Given the description of an element on the screen output the (x, y) to click on. 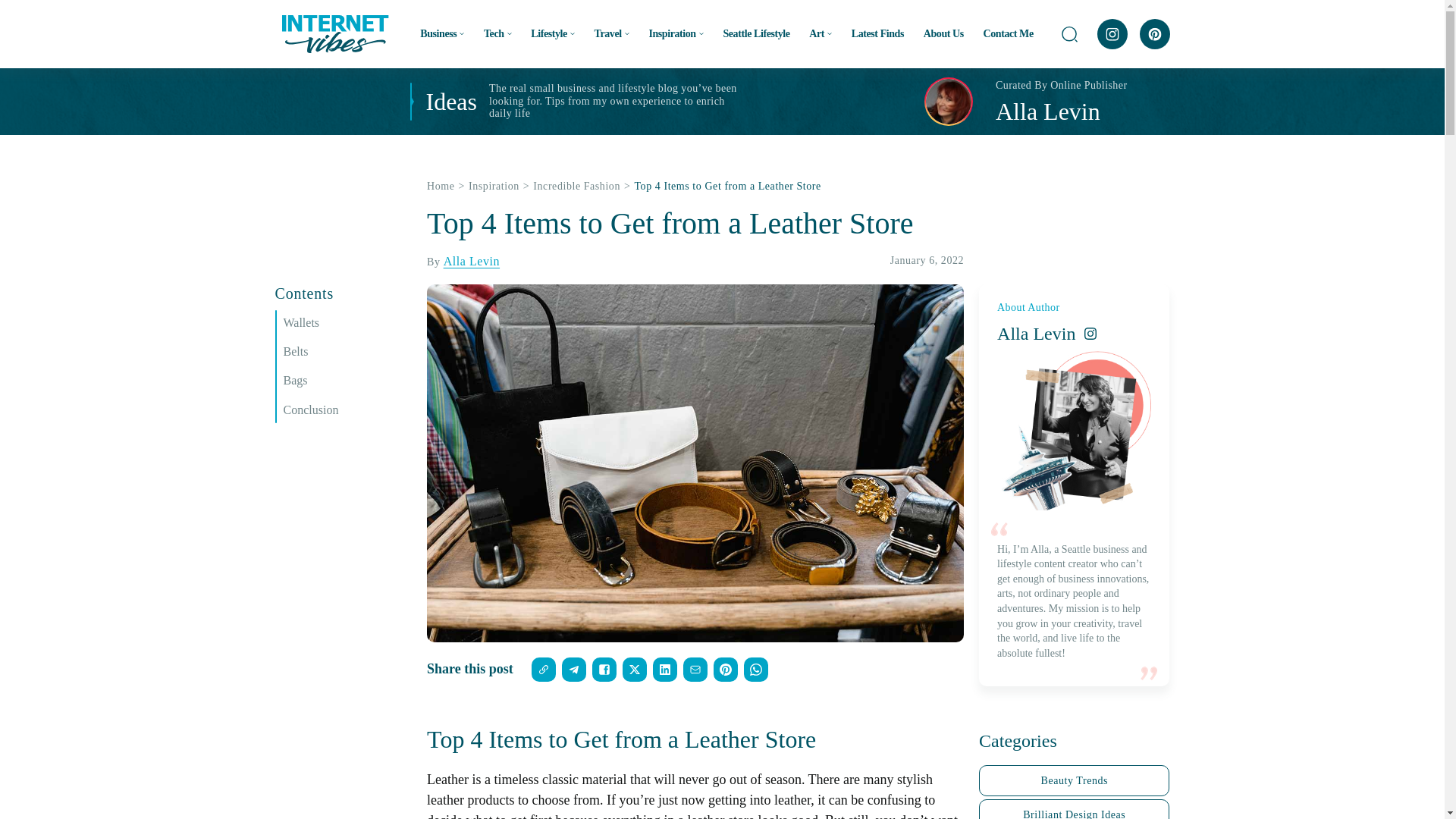
Inspiration (675, 33)
Bags (347, 380)
Tech (497, 33)
Lifestyle (553, 33)
Belts (347, 351)
Business (442, 33)
Travel (611, 33)
Conclusion (347, 410)
Wallets (347, 322)
